Given the description of an element on the screen output the (x, y) to click on. 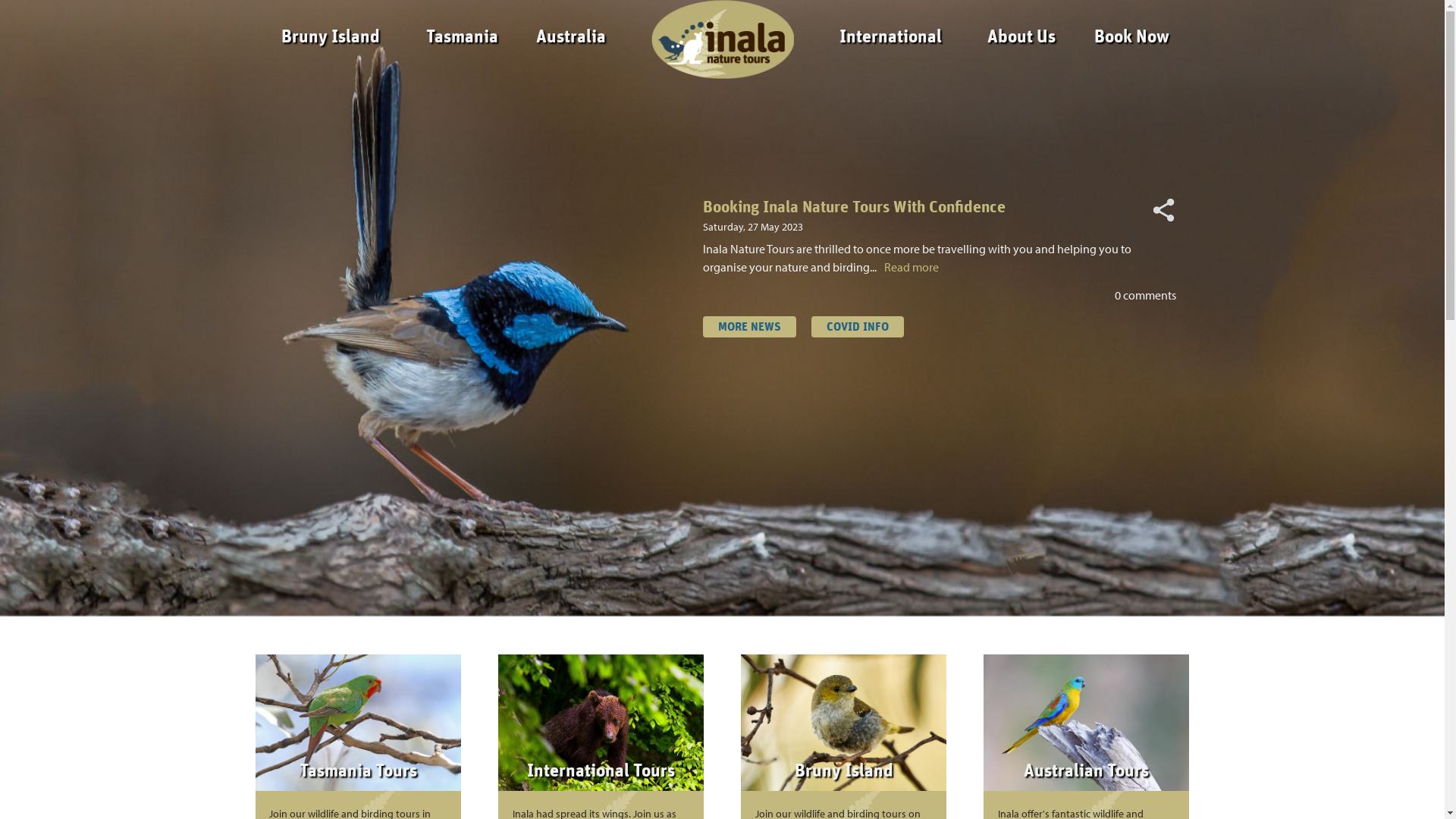
Read more Element type: text (985, 266)
Tasmania Tours Element type: text (358, 771)
News Element type: text (88, 244)
Book Now Element type: text (88, 213)
International Tours Element type: text (600, 771)
Tasmania Element type: text (85, 81)
Bruny Island Element type: text (330, 37)
Home Element type: text (88, 15)
Bruny Island Element type: text (843, 771)
International Element type: text (890, 37)
Tasmania Element type: text (462, 37)
Contact us Element type: text (88, 275)
Australia Element type: text (570, 37)
Australia Element type: text (85, 115)
International Element type: text (85, 149)
Bruny Island Element type: text (85, 48)
Logo Element type: text (717, 37)
COVID INFO Element type: text (857, 326)
Australian Tours Element type: text (1085, 771)
Book Now Element type: text (1131, 37)
About Us Element type: text (85, 182)
MORE NEWS Element type: text (749, 326)
About Us Element type: text (1021, 37)
Australians exploring Australia Element type: text (809, 207)
